Given the description of an element on the screen output the (x, y) to click on. 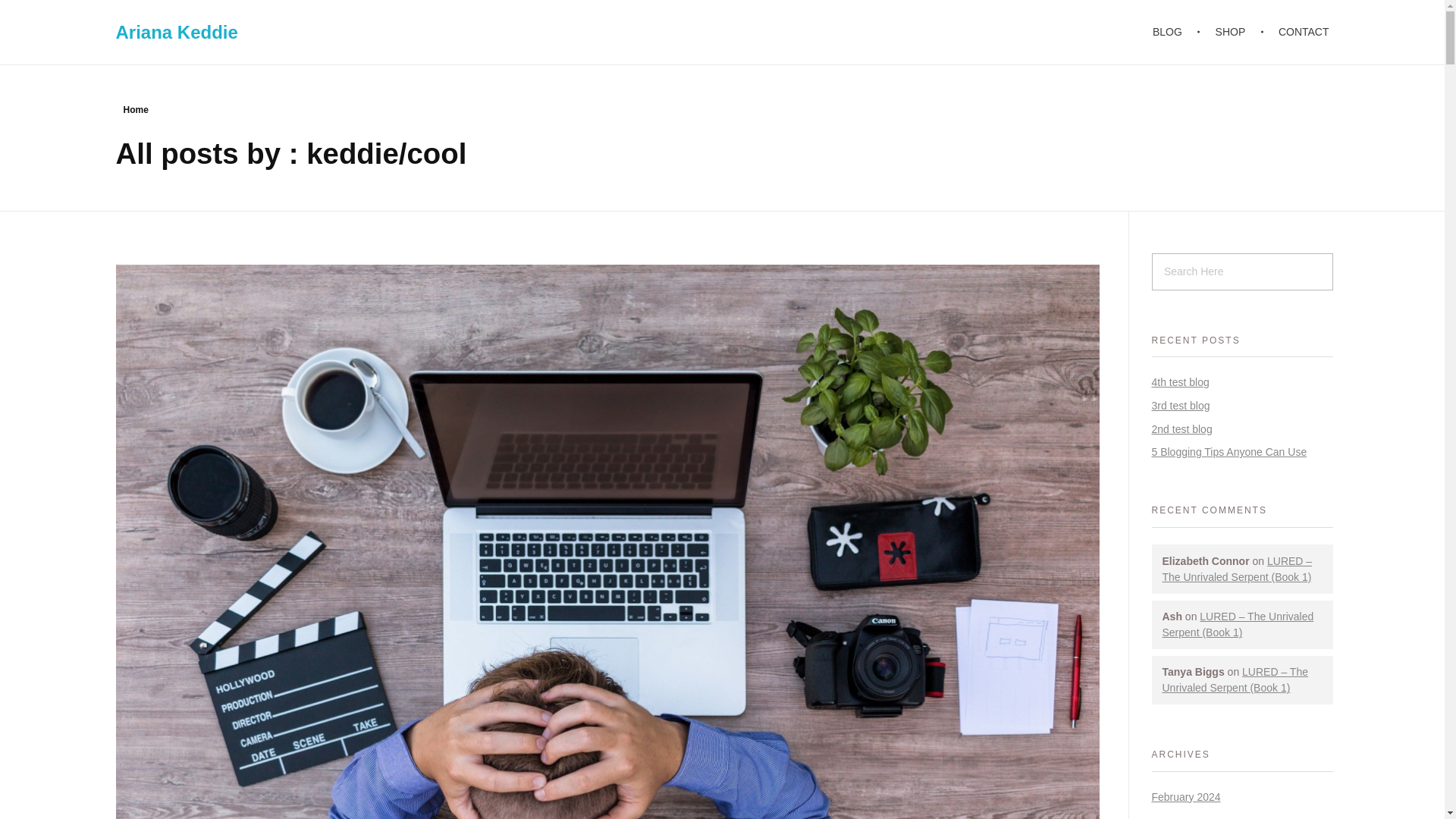
Home (135, 109)
CONTACT (1297, 32)
Home (135, 109)
Ariana Keddie (176, 31)
Ariana Keddie (176, 31)
SHOP (1232, 32)
